Given the description of an element on the screen output the (x, y) to click on. 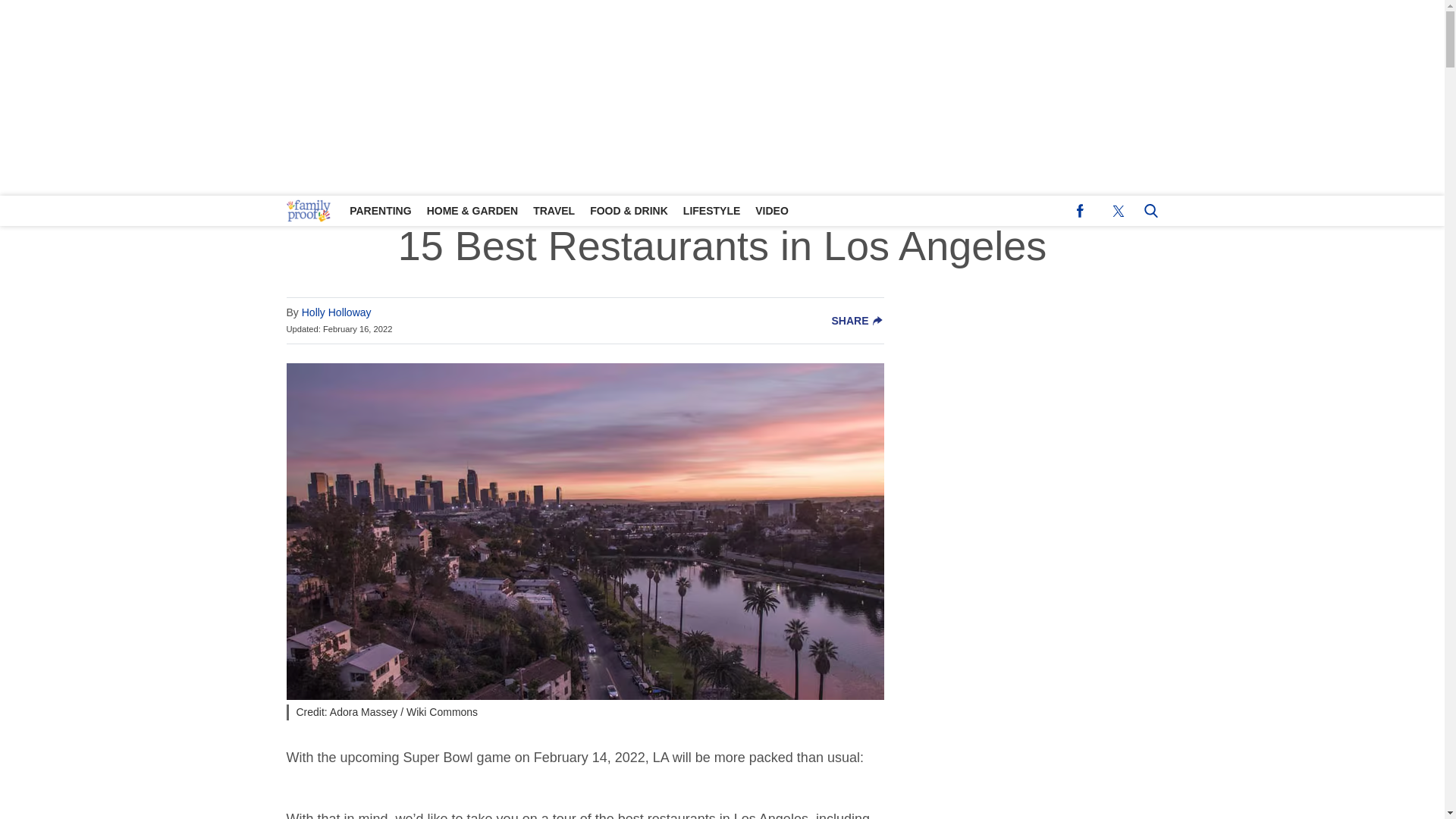
Holly Holloway (336, 312)
TRAVEL (553, 210)
PARENTING (380, 210)
Posts by Holly Holloway (336, 312)
LIFESTYLE (711, 210)
Follow us on Twitter (1118, 210)
Follow us on Facebook (1080, 210)
VIDEO (772, 210)
